Given the description of an element on the screen output the (x, y) to click on. 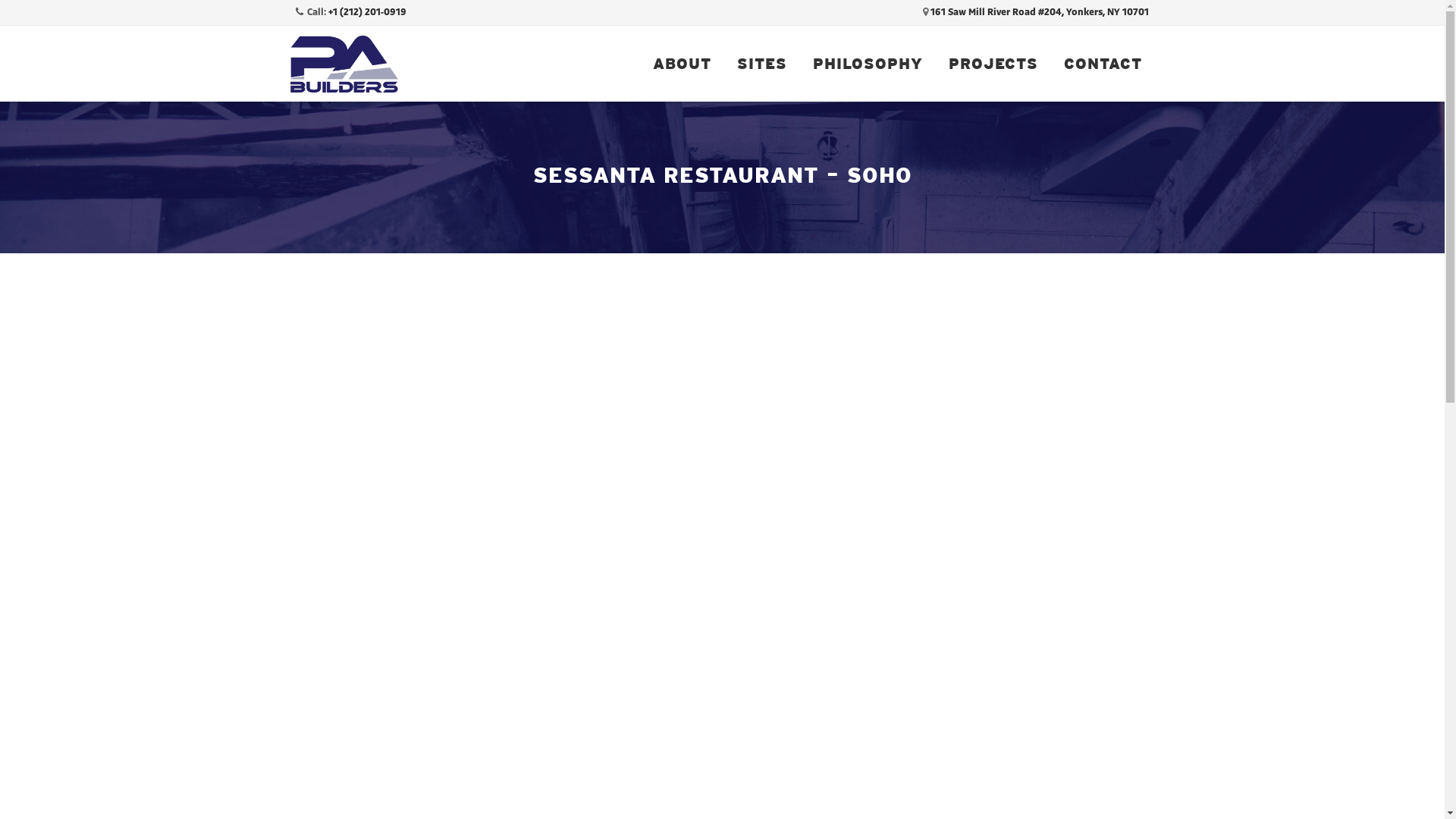
SITES Element type: text (761, 63)
PROJECTS Element type: text (993, 63)
PA Builders Element type: hover (343, 63)
ABOUT Element type: text (682, 63)
PHILOSOPHY Element type: text (867, 63)
CONTACT Element type: text (1102, 63)
+1 (212) 201-0919 Element type: text (366, 12)
Skip to content Element type: text (630, 25)
161 Saw Mill River Road #204, Yonkers, NY 10701 Element type: text (1038, 12)
